Given the description of an element on the screen output the (x, y) to click on. 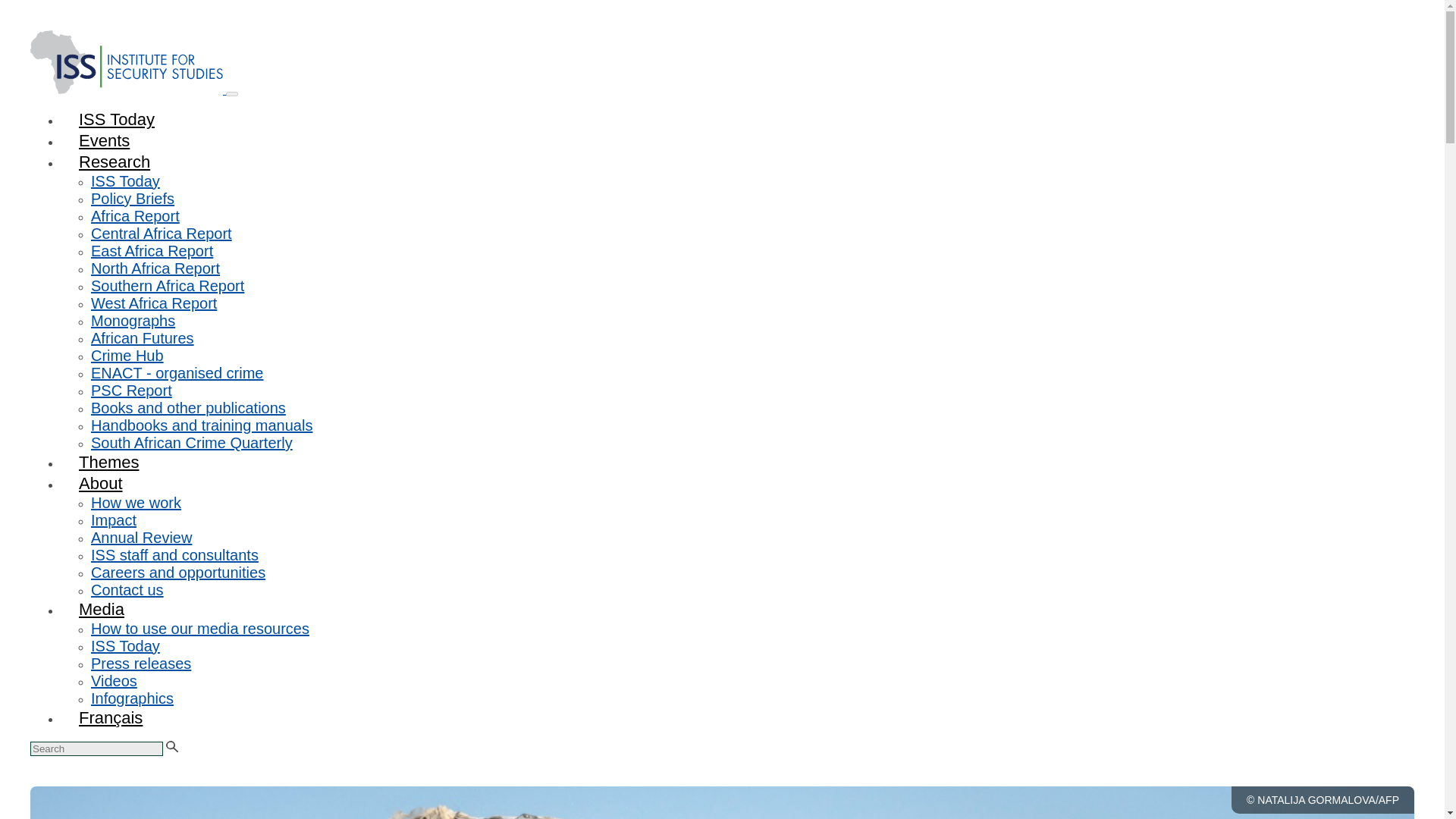
ISS Today (117, 118)
ISS staff and consultants (174, 555)
South African Crime Quarterly (191, 442)
Events (104, 140)
African Futures (141, 338)
North Africa Report (154, 268)
About (101, 483)
Central Africa Report (160, 233)
PSC Report (130, 390)
Annual Review (141, 537)
Press releases (140, 663)
ISS Today (125, 646)
Infographics (131, 698)
Monographs (132, 320)
How we work (135, 502)
